Given the description of an element on the screen output the (x, y) to click on. 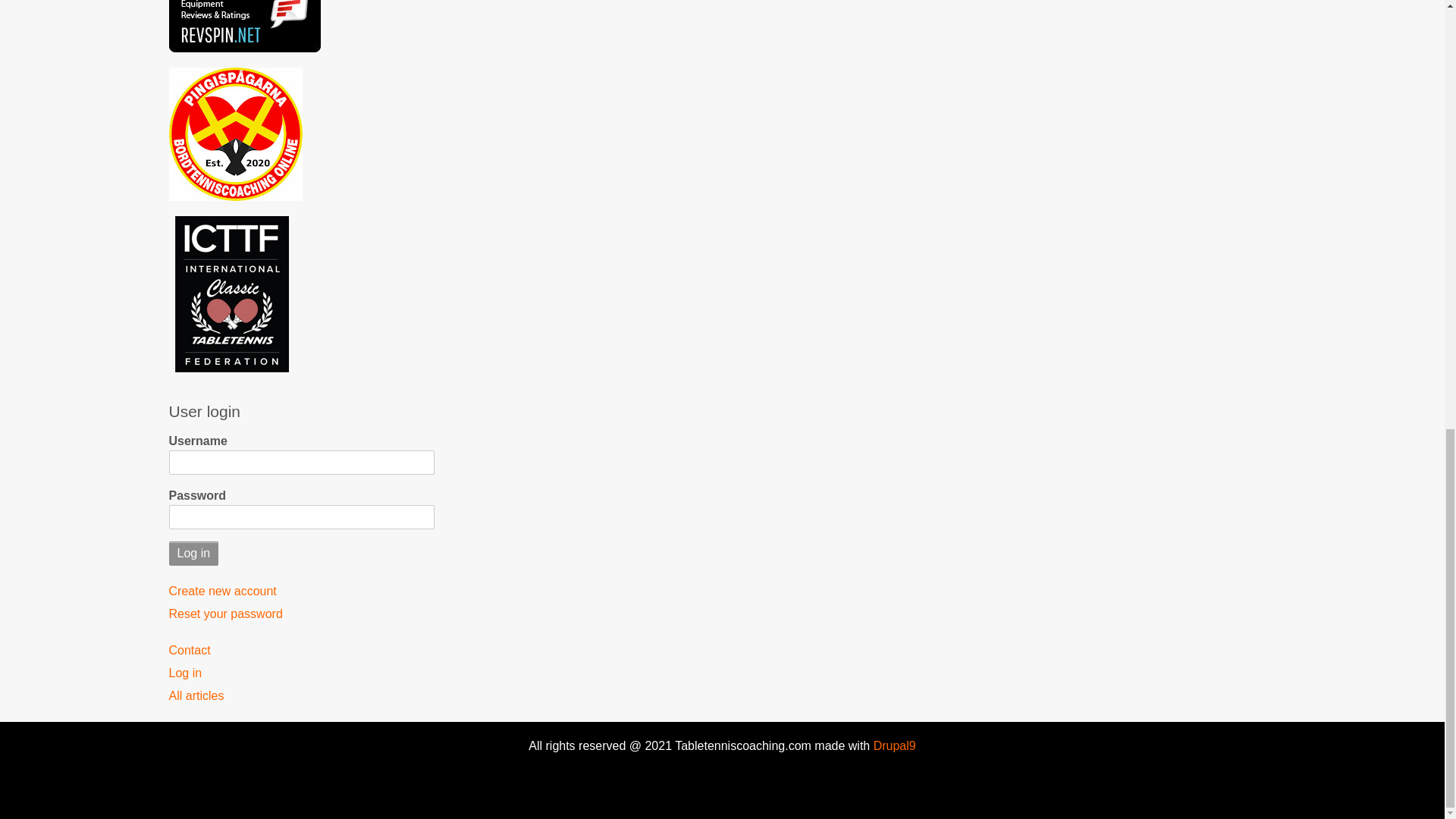
Drupal9 (892, 745)
Reset your password (300, 613)
Contact (300, 649)
Log in (193, 553)
Create a new user account. (300, 590)
Send password reset instructions via email. (300, 613)
Log in (300, 672)
Create new account (300, 590)
All articles (300, 695)
Log in (193, 553)
